Given the description of an element on the screen output the (x, y) to click on. 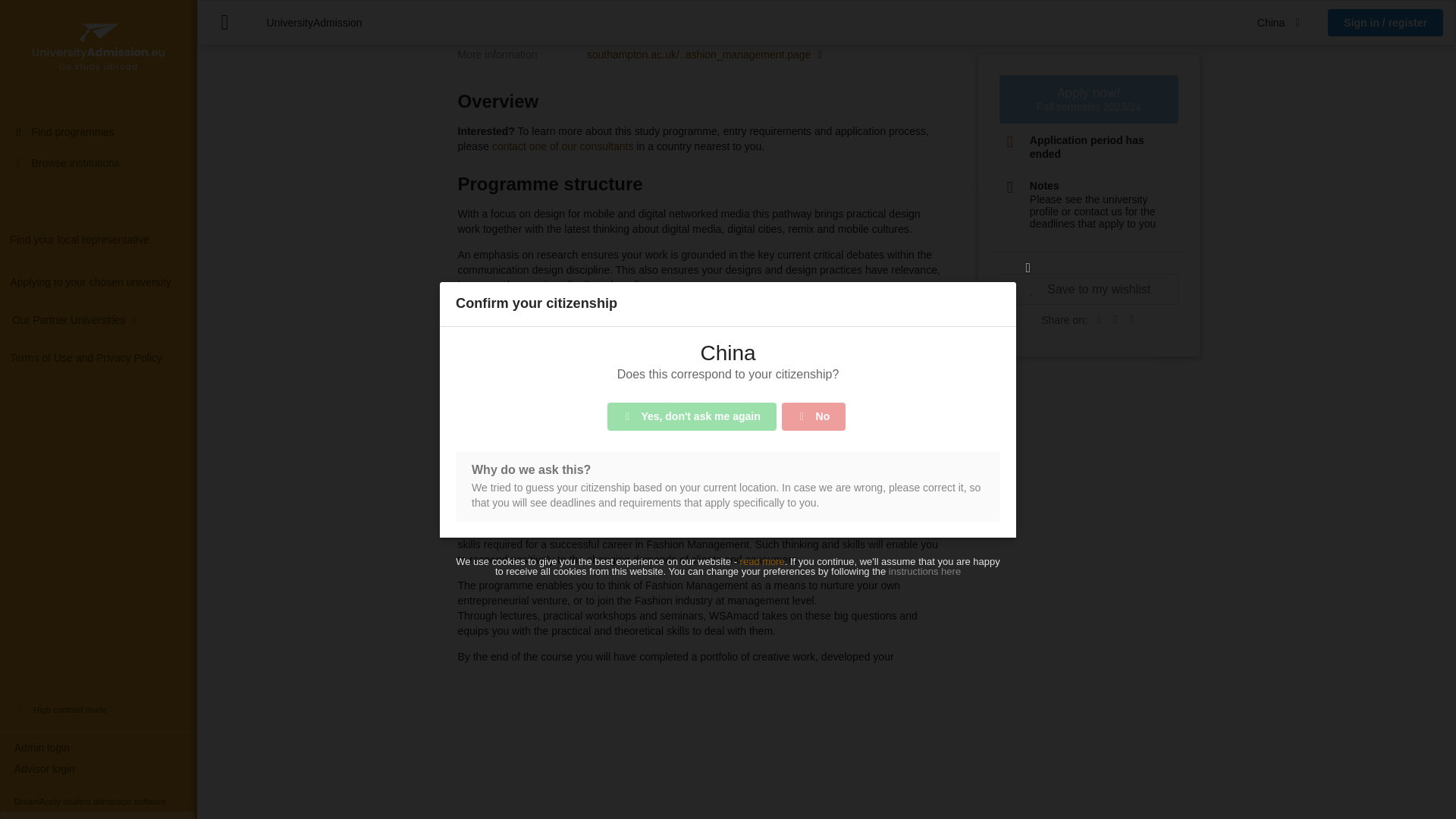
Admin login (98, 104)
Advisor login (98, 125)
DreamApply student admission software (98, 157)
High contrast mode (98, 65)
contact one of our consultants (562, 146)
